Given the description of an element on the screen output the (x, y) to click on. 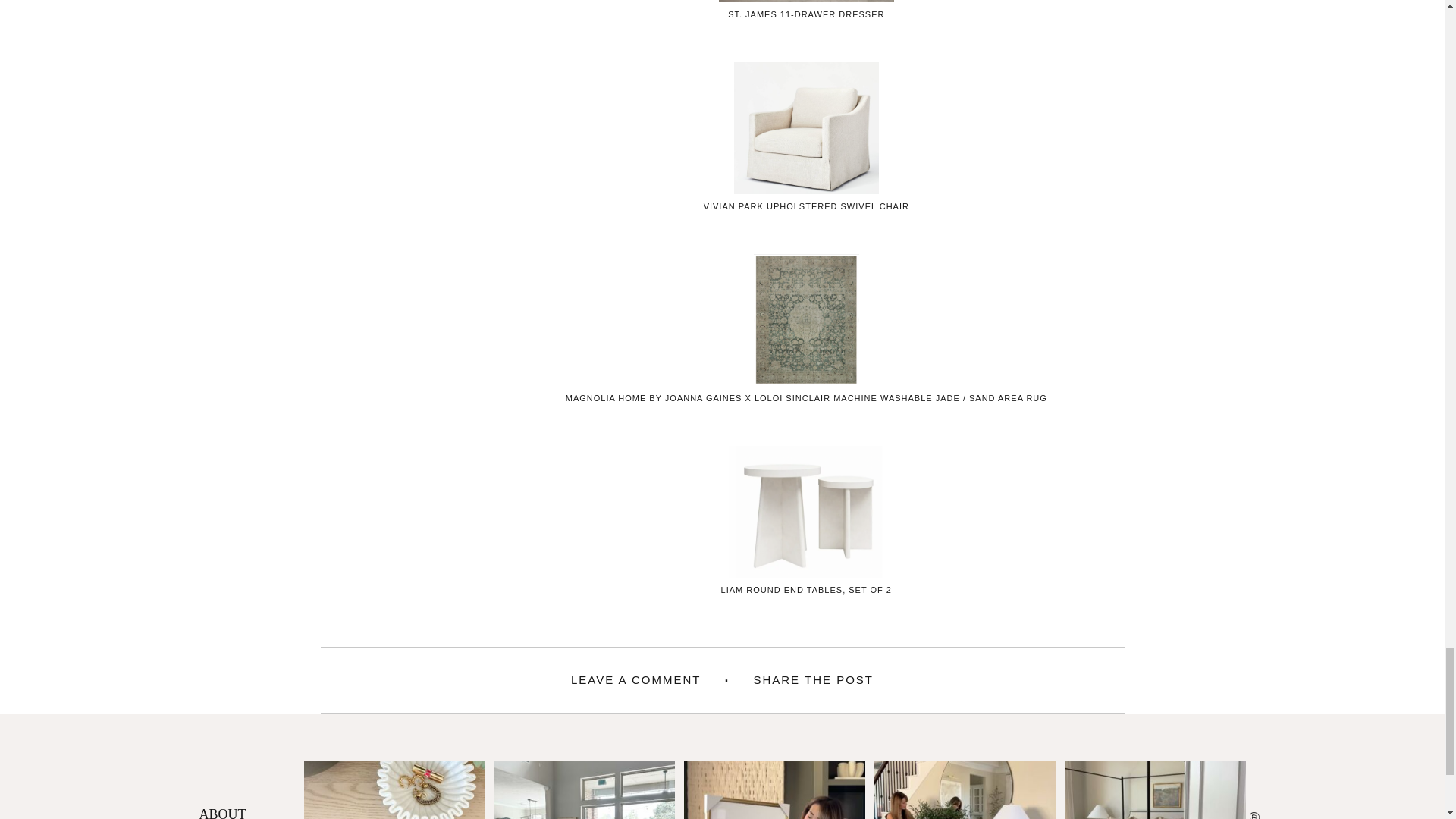
LEAVE A COMMENT (635, 680)
